Given the description of an element on the screen output the (x, y) to click on. 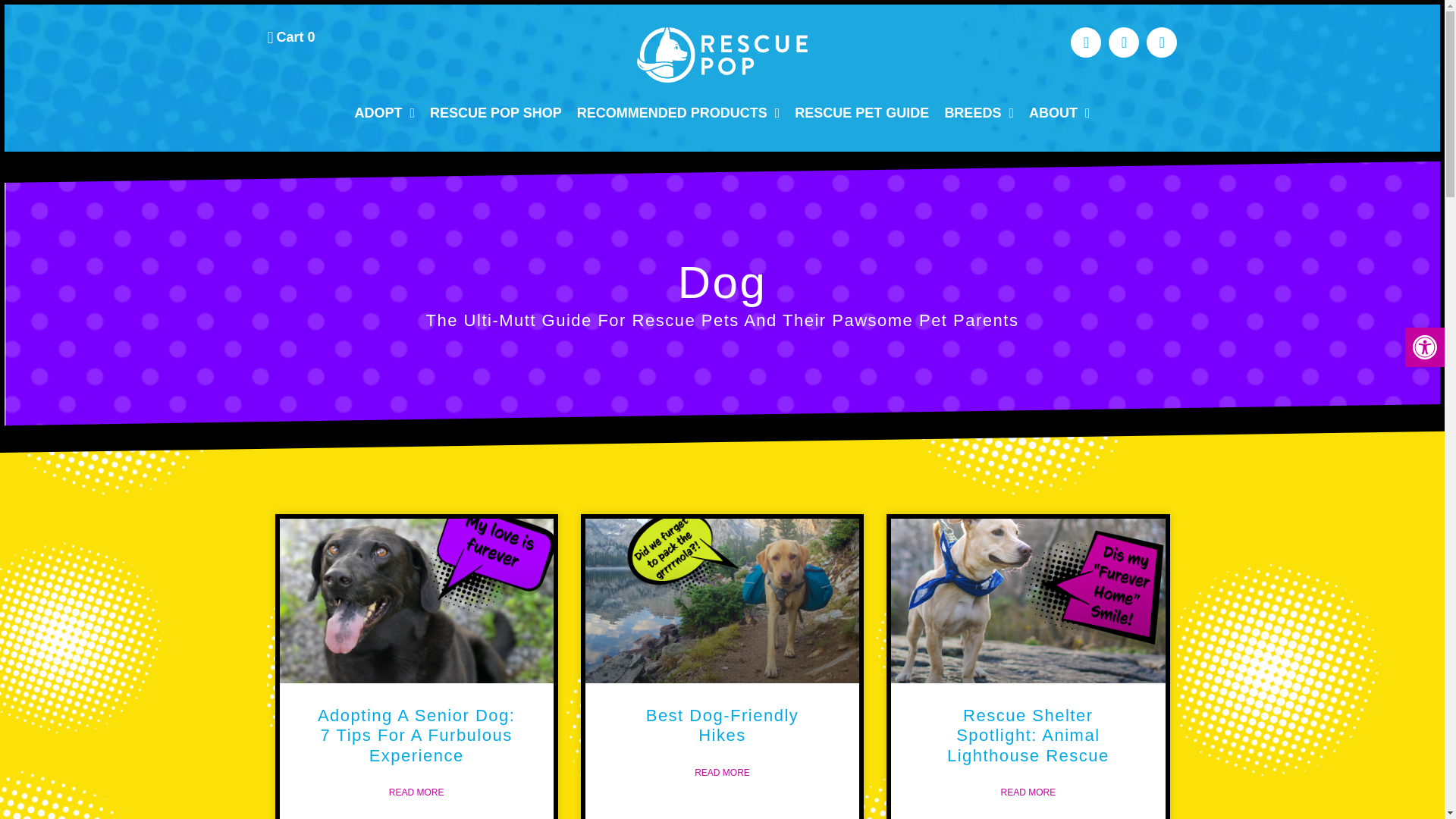
View your shopping cart (290, 37)
RECOMMENDED PRODUCTS (678, 113)
ADOPT (384, 113)
RESCUE POP SHOP (290, 37)
Accessibility Tools (495, 113)
BREEDS (1424, 346)
ABOUT (979, 113)
RESCUE PET GUIDE (1059, 113)
